Given the description of an element on the screen output the (x, y) to click on. 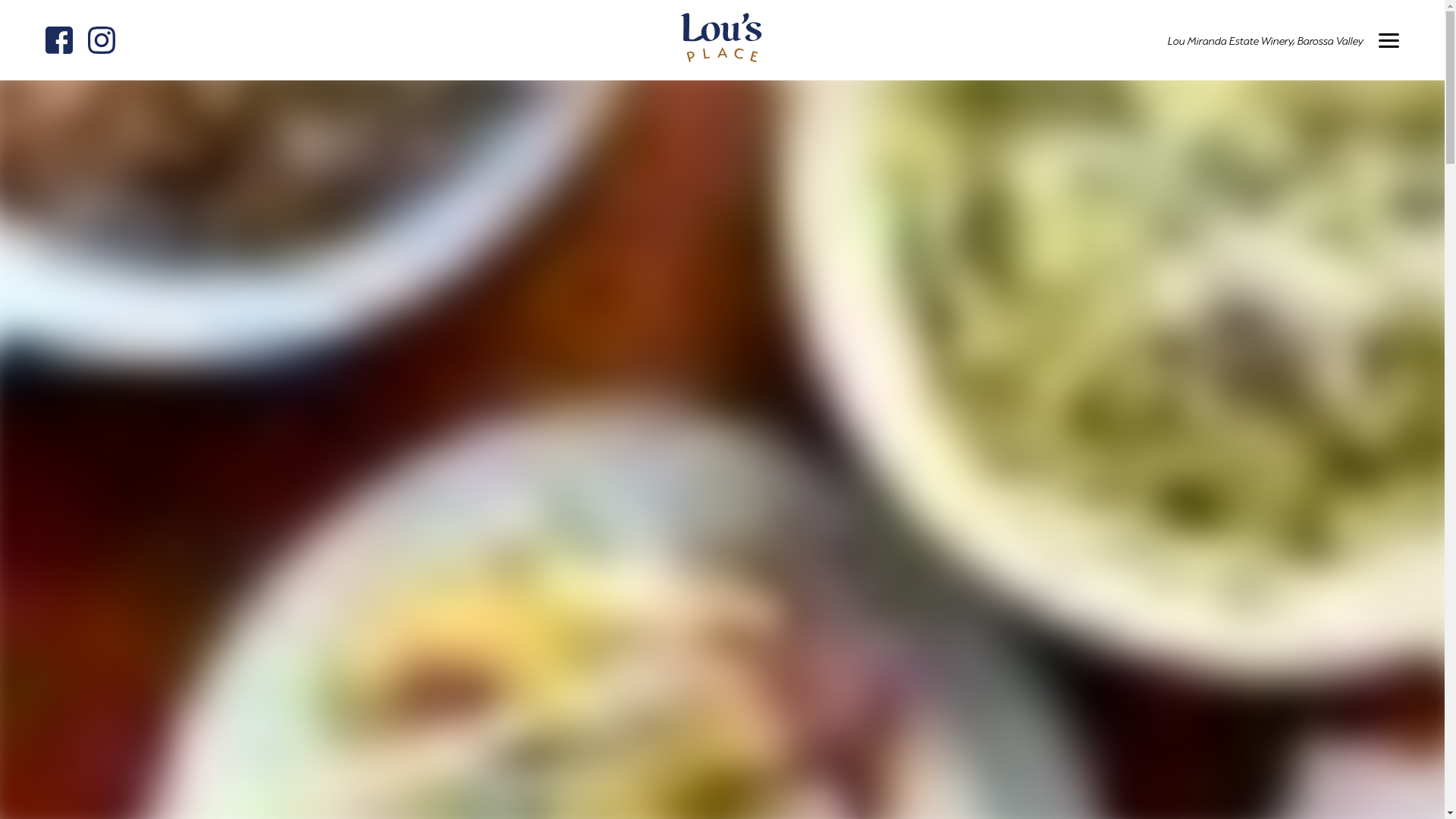
Lou Miranda Estate Winery,
Barossa Valley Element type: text (1265, 40)
